Given the description of an element on the screen output the (x, y) to click on. 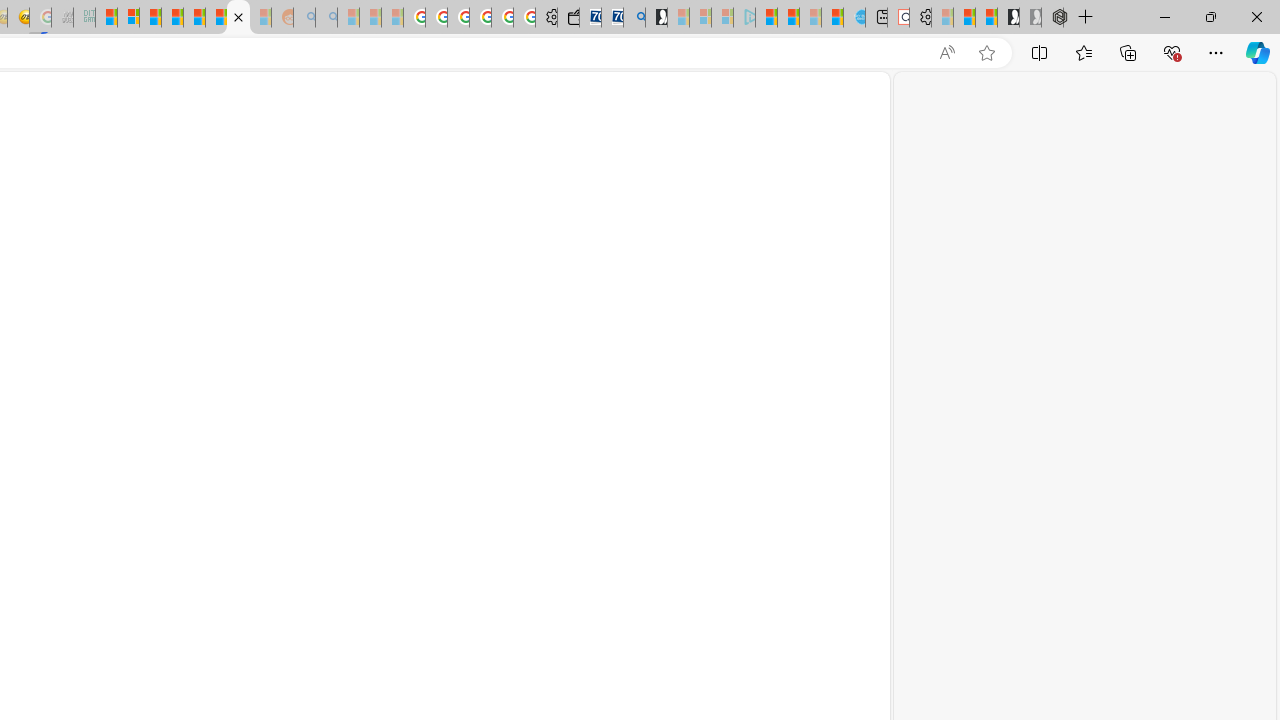
Kinda Frugal - MSN (216, 17)
Bing Real Estate - Home sales and rental listings (634, 17)
